Given the description of an element on the screen output the (x, y) to click on. 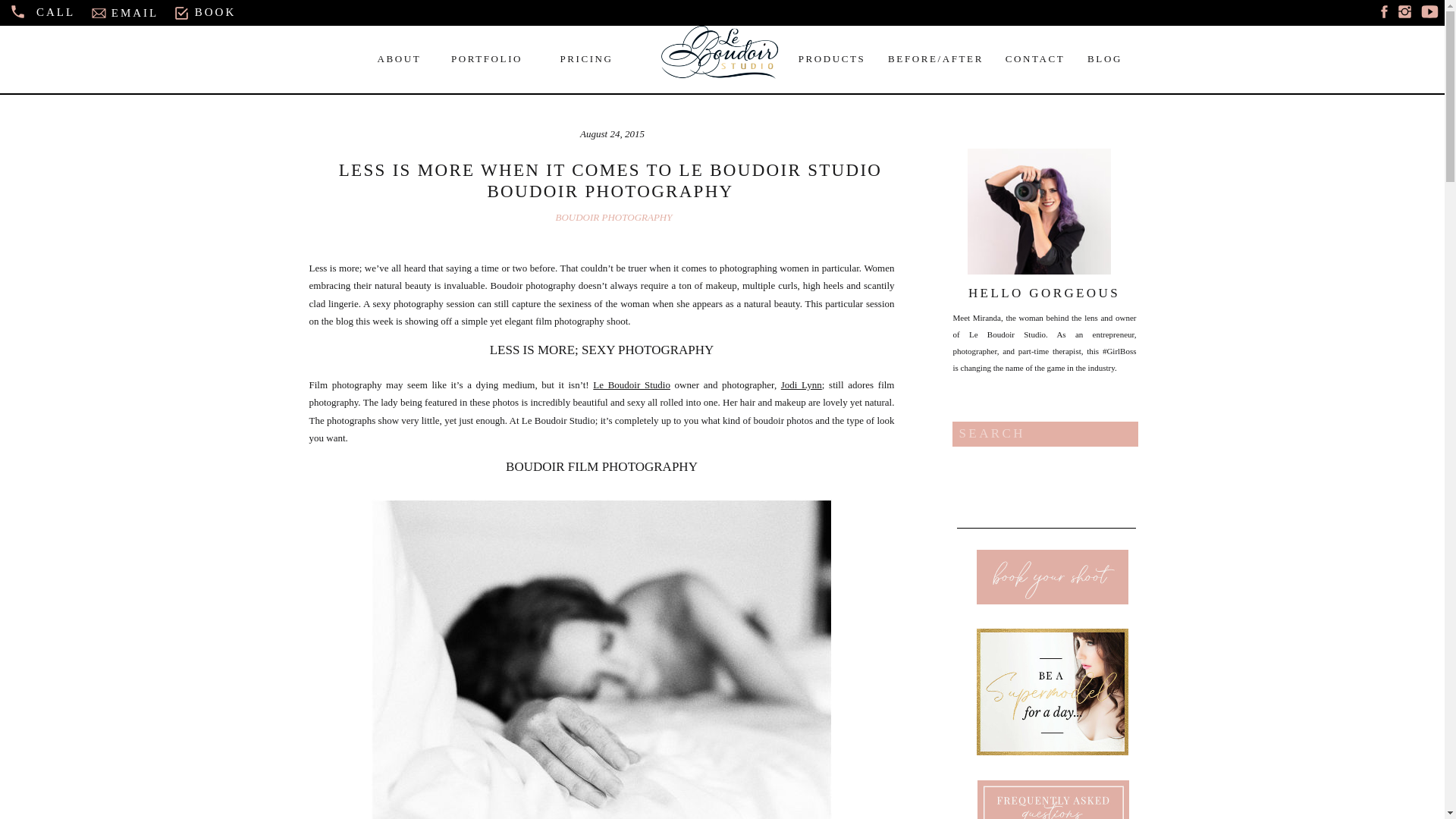
Jodi Lynn (801, 384)
CONTACT (1035, 58)
PORTFOLIO (485, 58)
BOOK (215, 12)
PRICING (586, 58)
BOUDOIR PHOTOGRAPHY (614, 216)
ABOUT (398, 58)
Le Boudoir Studio (630, 384)
CALL (55, 12)
EMAIL (134, 13)
BLOG (1104, 58)
PRODUCTS (831, 58)
